Given the description of an element on the screen output the (x, y) to click on. 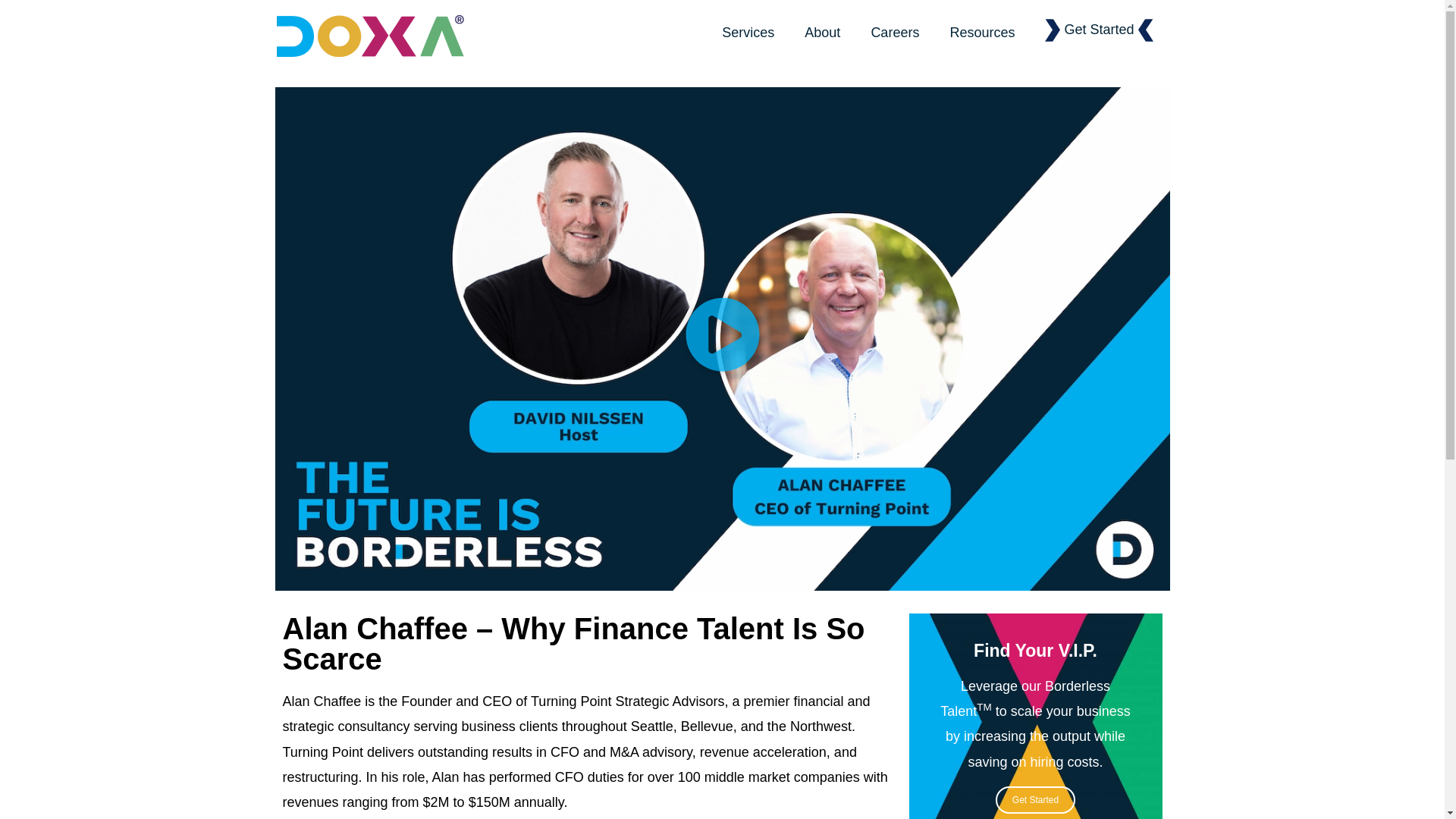
Careers (895, 32)
About (822, 32)
Get Started (1099, 29)
Services (747, 32)
Resources (981, 32)
Get Started (1035, 800)
